Given the description of an element on the screen output the (x, y) to click on. 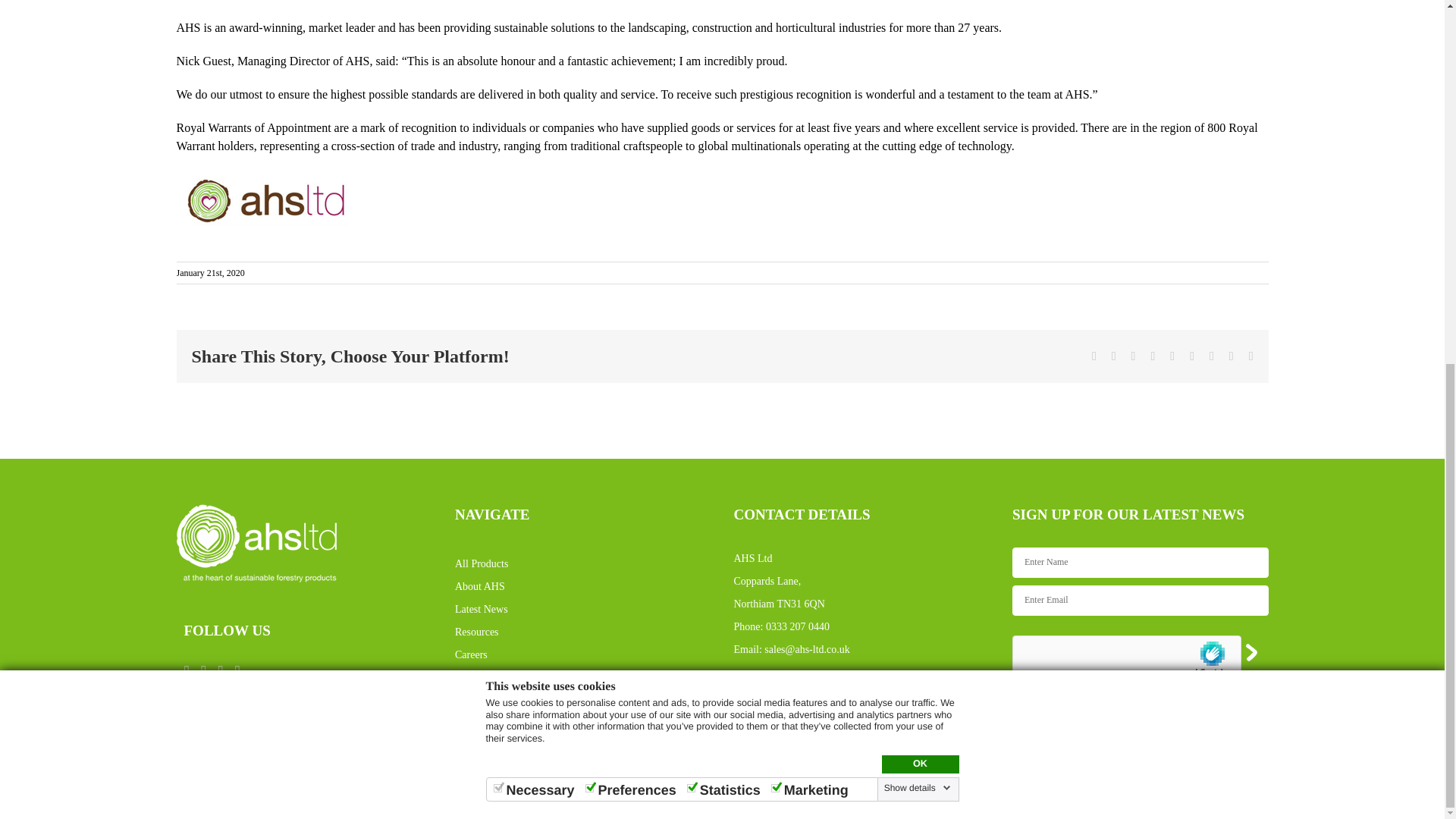
Submit (1181, 736)
OK (919, 113)
Show details (916, 136)
